Given the description of an element on the screen output the (x, y) to click on. 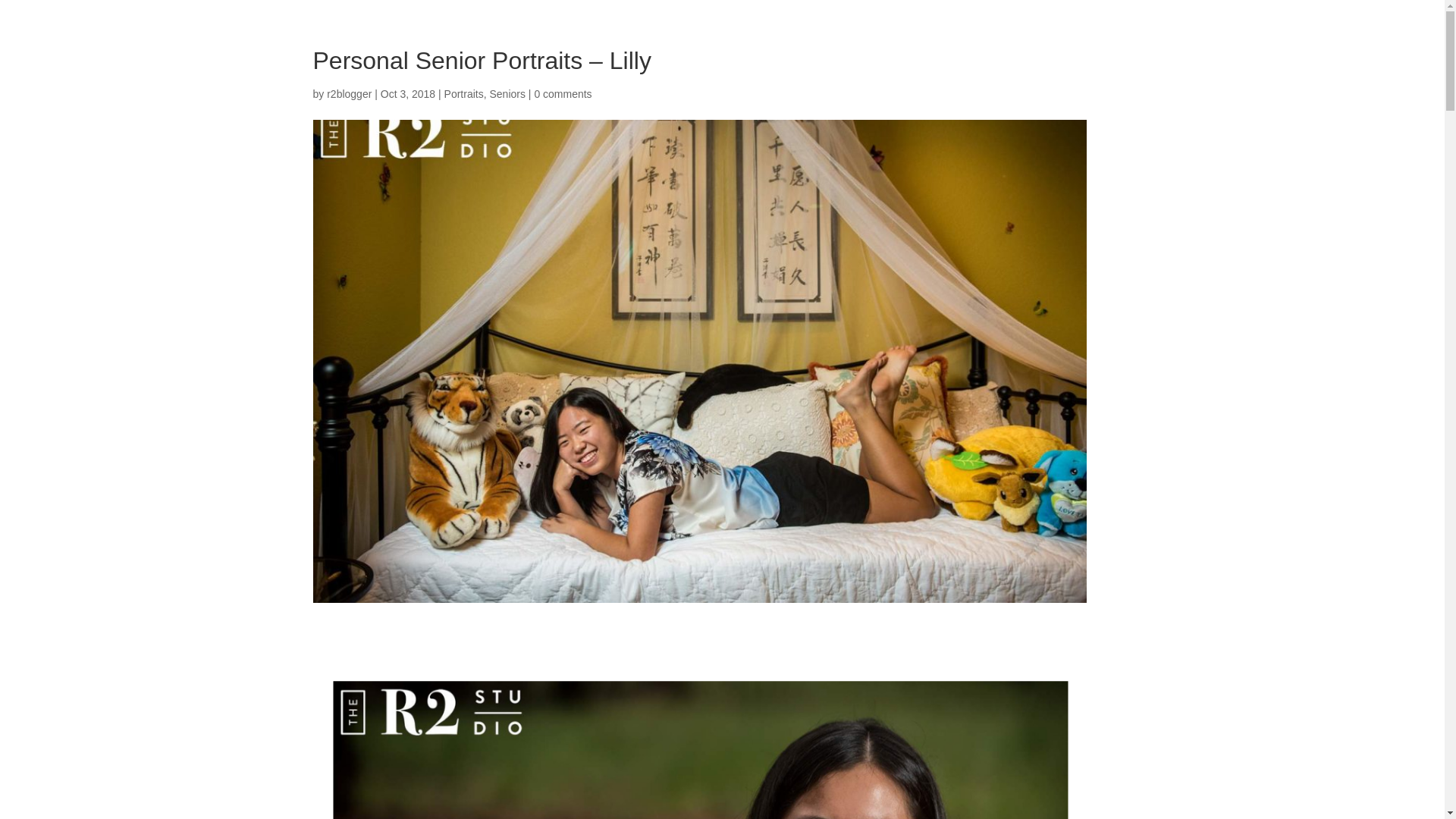
r2blogger (348, 93)
Portraits (463, 93)
0 comments (562, 93)
Seniors (506, 93)
Posts by r2blogger (348, 93)
